Given the description of an element on the screen output the (x, y) to click on. 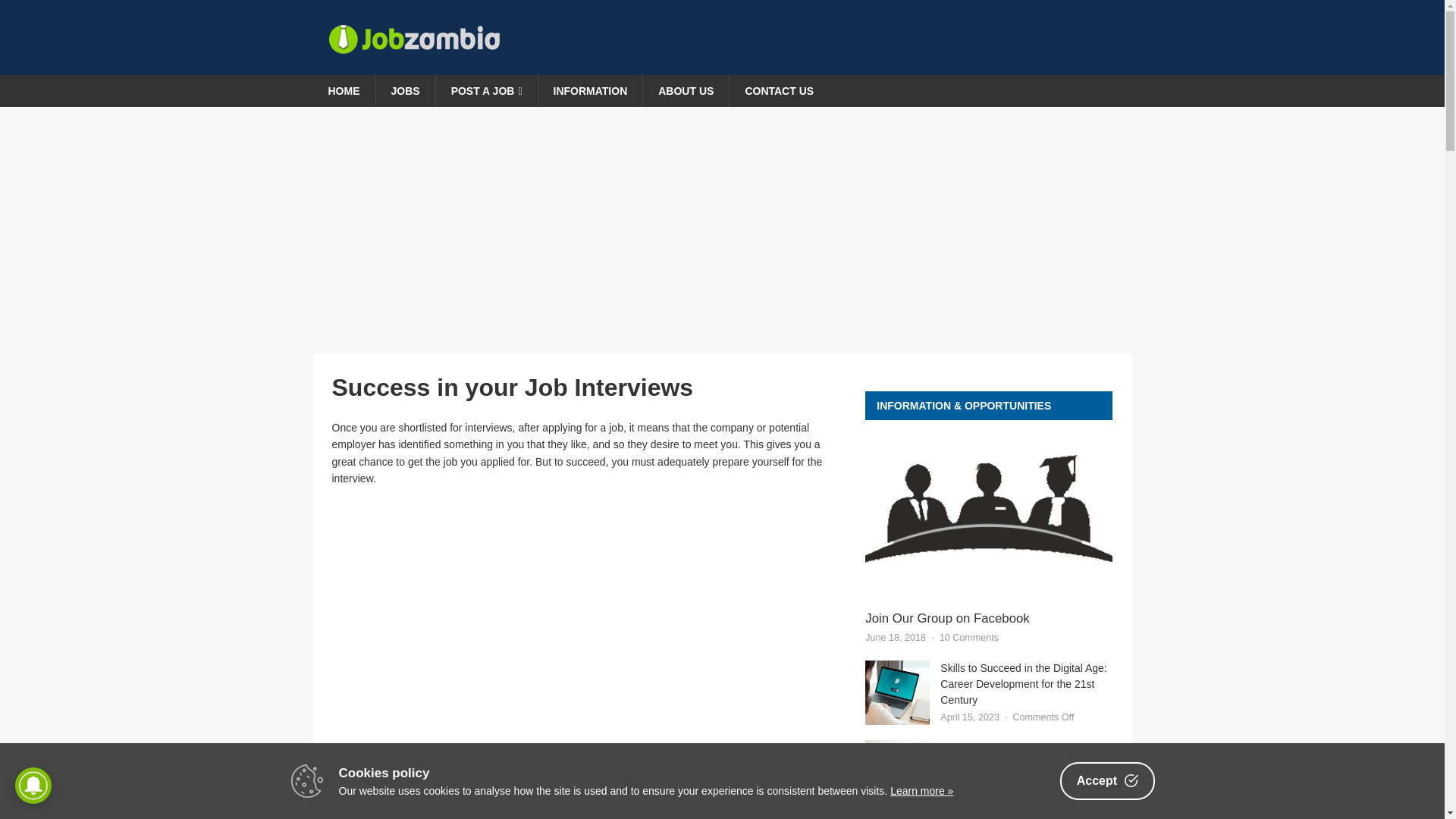
HOME (343, 91)
JOBS (403, 91)
CONTACT US (778, 91)
Advertisement (588, 712)
POST A JOB (486, 91)
INFORMATION (590, 91)
ABOUT US (685, 91)
